Given the description of an element on the screen output the (x, y) to click on. 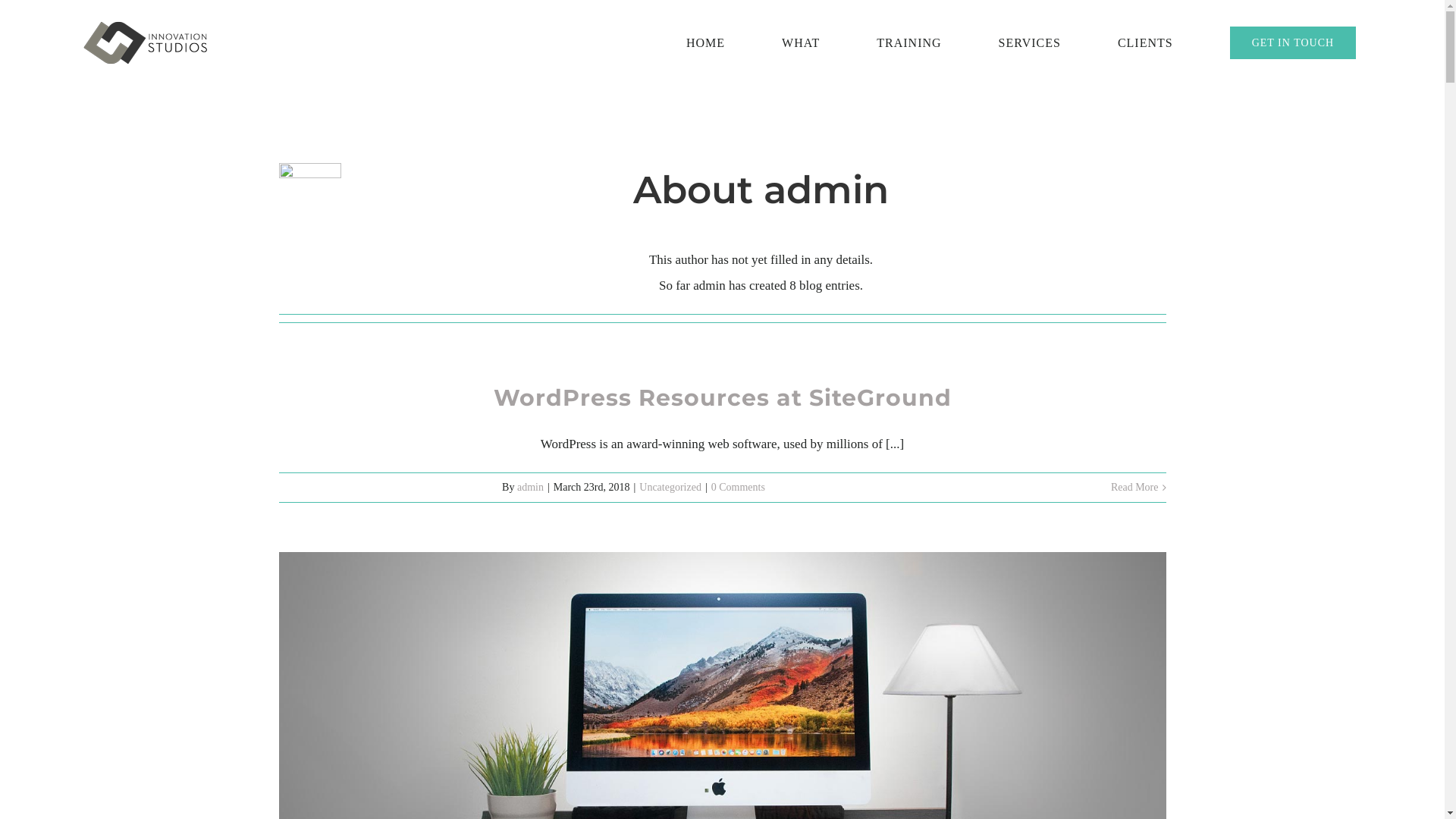
WHAT Element type: text (800, 42)
admin Element type: text (530, 486)
Read More Element type: text (1134, 486)
0 Comments Element type: text (738, 486)
Uncategorized Element type: text (670, 486)
GET IN TOUCH Element type: text (1292, 42)
WordPress Resources at SiteGround Element type: text (721, 397)
TRAINING Element type: text (908, 42)
SERVICES Element type: text (1029, 42)
CLIENTS Element type: text (1145, 42)
HOME Element type: text (705, 42)
